Given the description of an element on the screen output the (x, y) to click on. 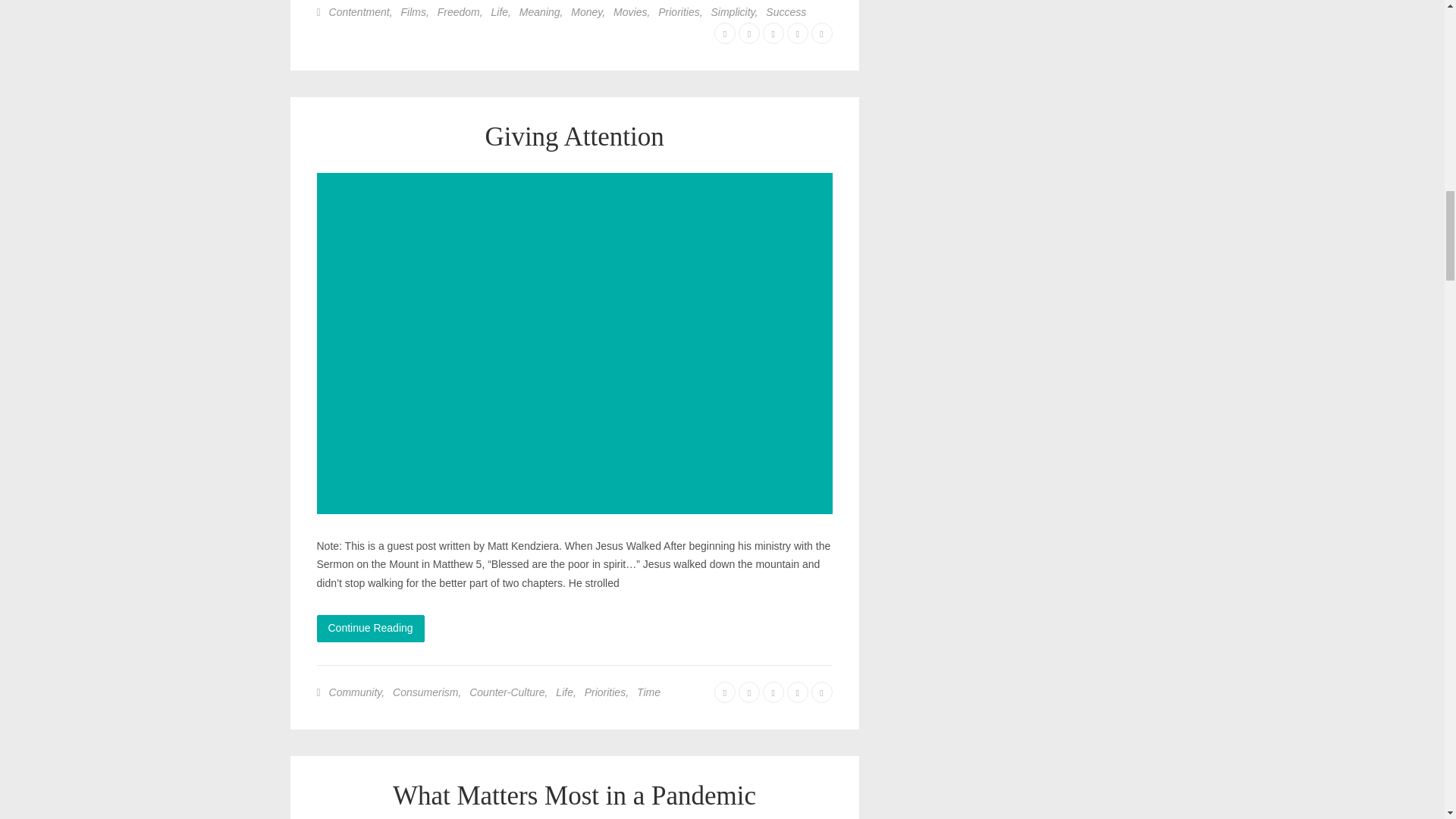
Life (500, 11)
Freedom (459, 11)
Films (412, 11)
Priorities (678, 11)
Money (586, 11)
Meaning (539, 11)
Movies (629, 11)
Simplicity (733, 11)
Success (785, 11)
Giving Attention (573, 136)
